Given the description of an element on the screen output the (x, y) to click on. 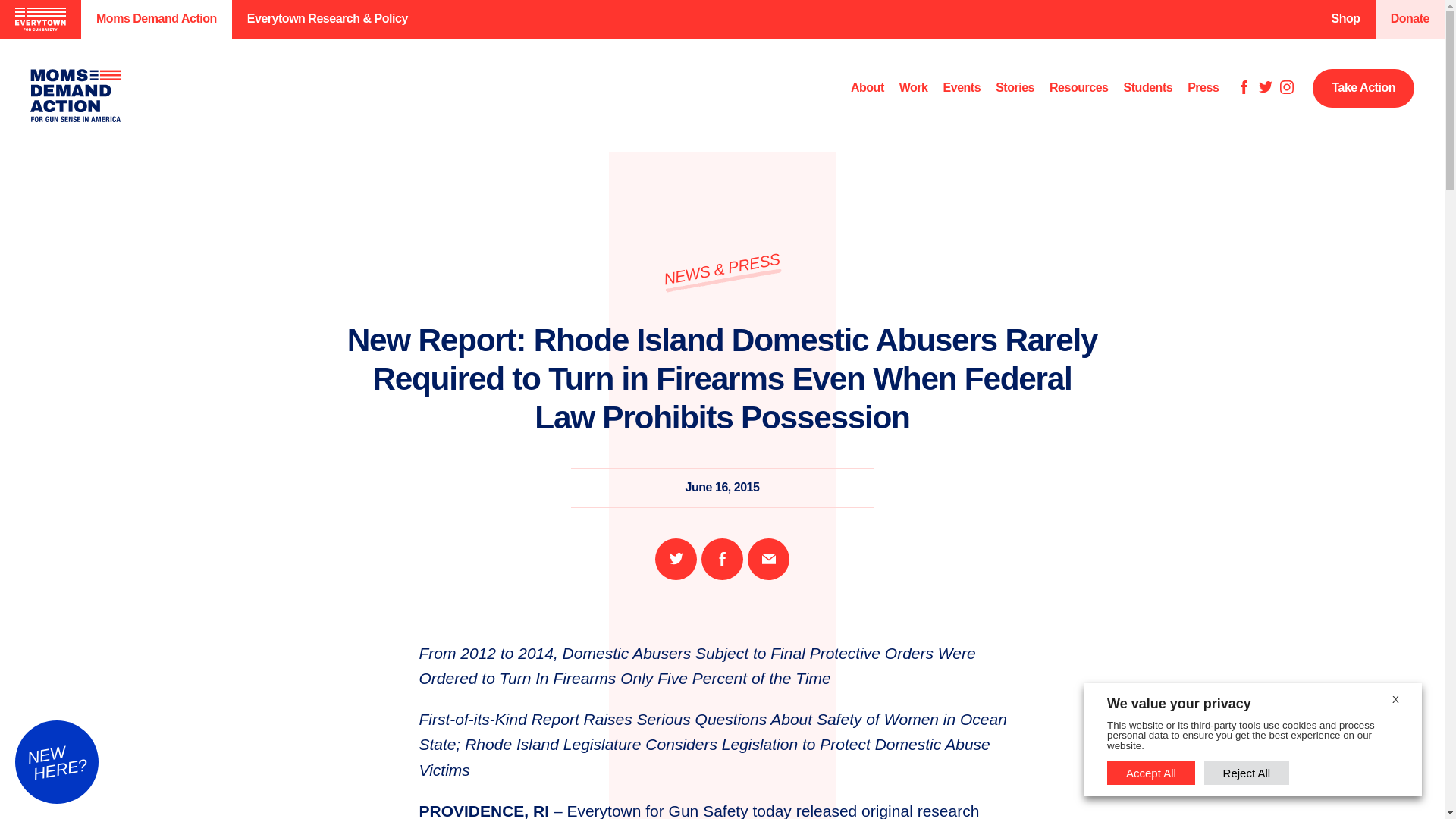
Events (962, 88)
Students (1148, 88)
Press (1203, 88)
Moms Demand Action (156, 19)
Shop (1345, 19)
Work (913, 88)
Follow us on Facebook (1244, 88)
Resources (1078, 88)
Take Action (1363, 87)
Follow us on Twitter (1265, 88)
